Given the description of an element on the screen output the (x, y) to click on. 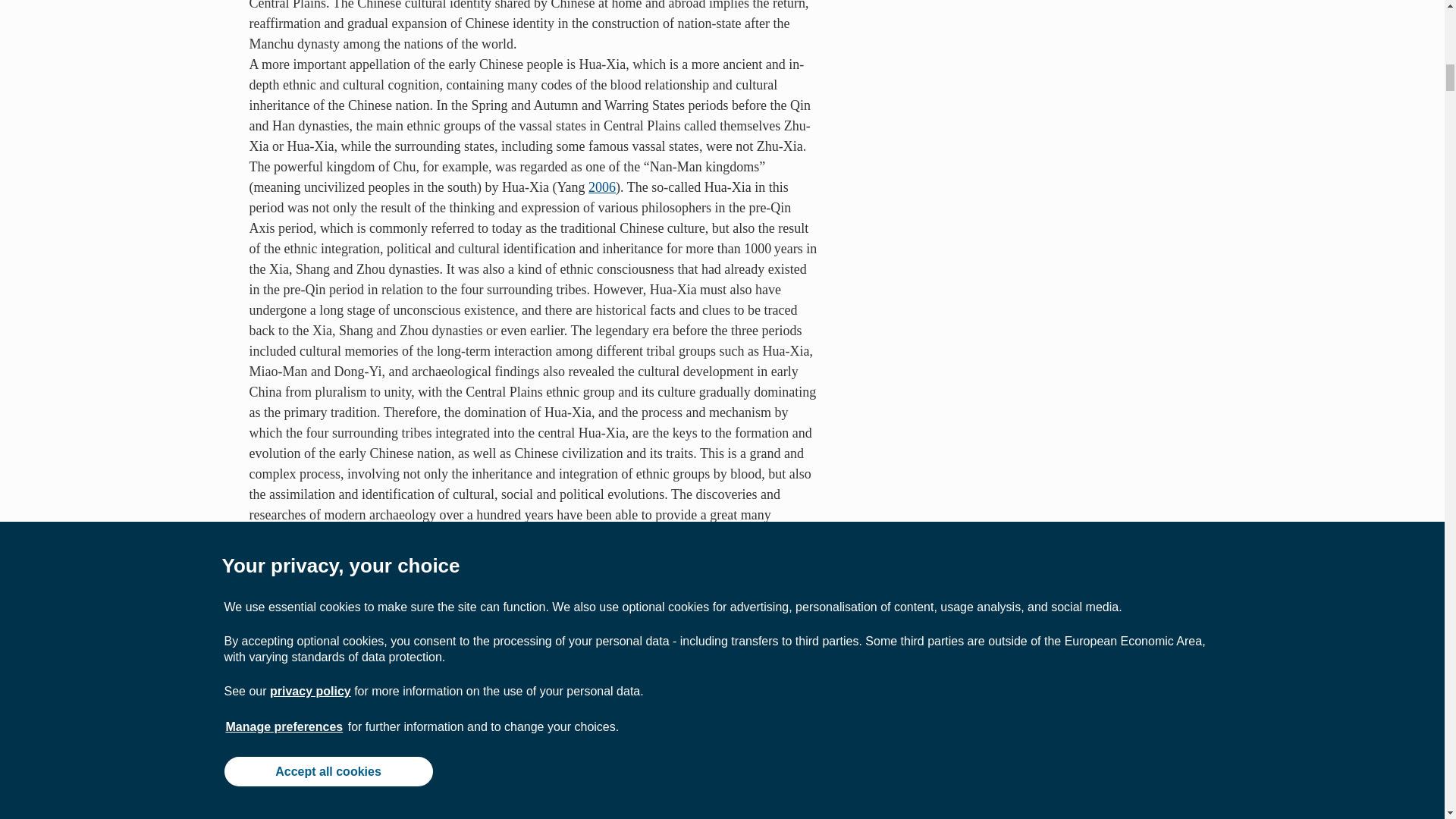
2006 (601, 186)
1959 (262, 664)
